Given the description of an element on the screen output the (x, y) to click on. 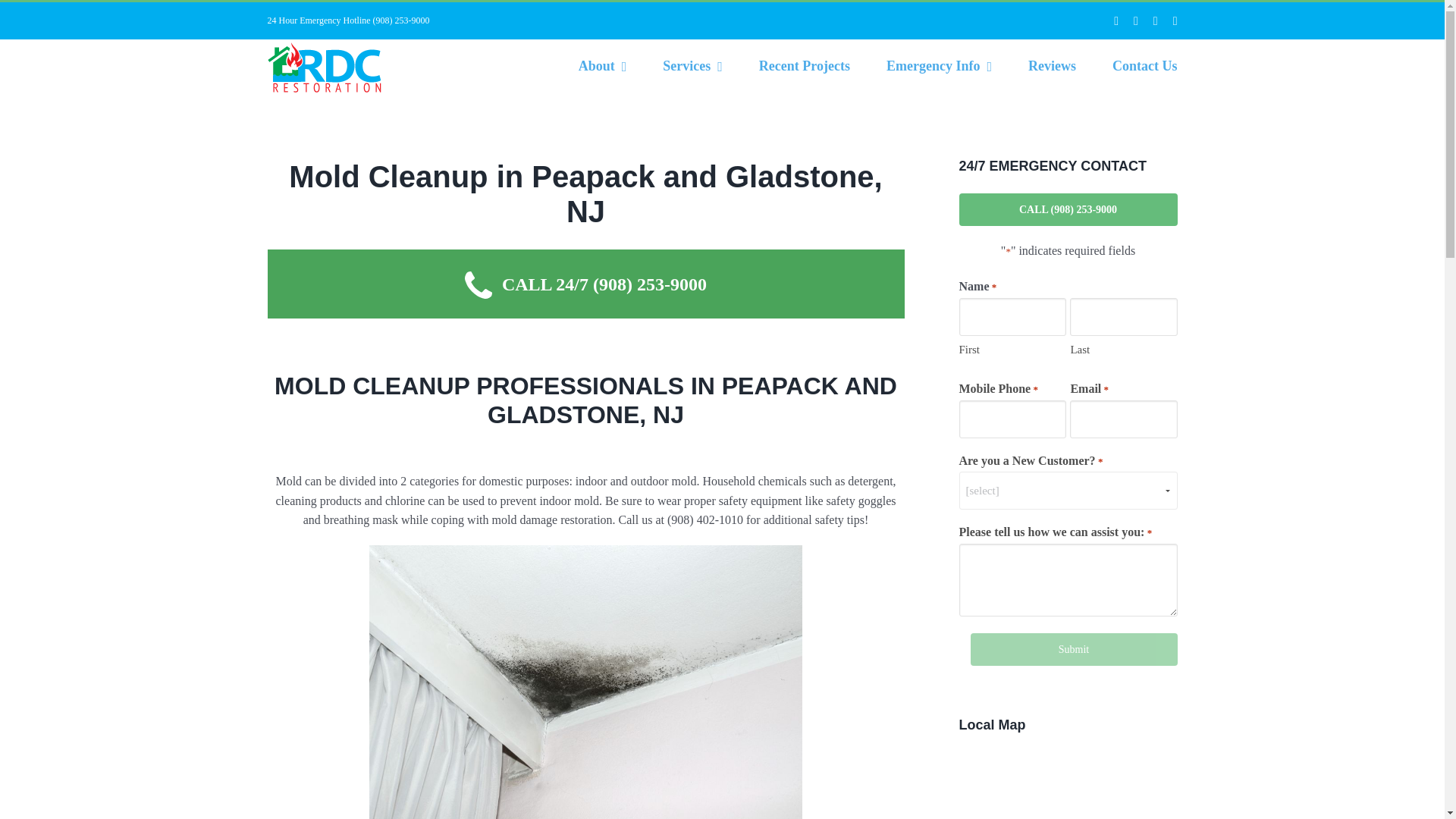
Submit (1074, 649)
Contact Us (1144, 65)
Emergency Info (938, 65)
About (602, 65)
Services (692, 65)
Recent Projects (804, 65)
Reviews (1051, 65)
